Given the description of an element on the screen output the (x, y) to click on. 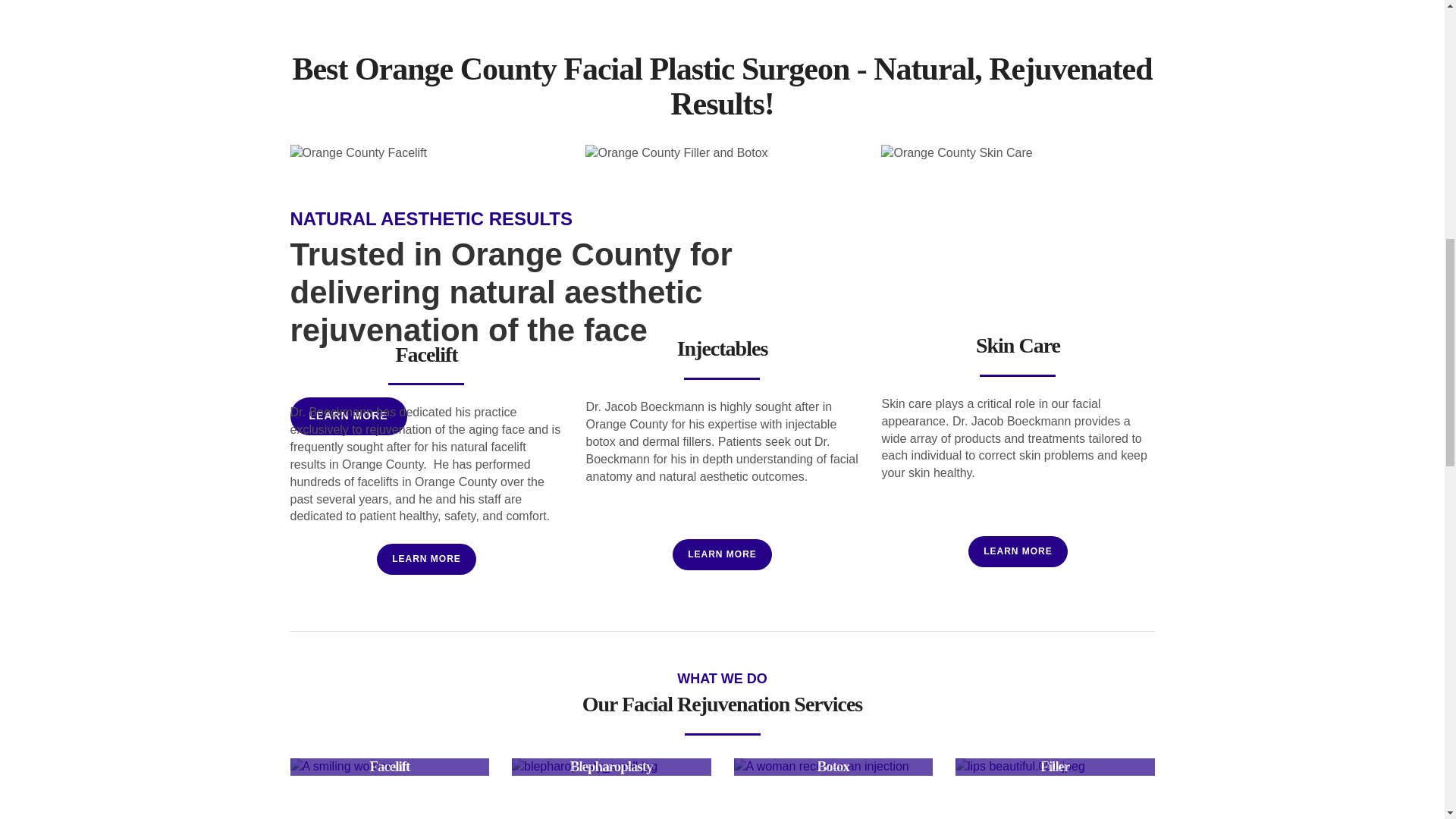
Best Orange County botox (722, 237)
best facelift Orange County (425, 239)
Orange County Skin care (1017, 235)
